Given the description of an element on the screen output the (x, y) to click on. 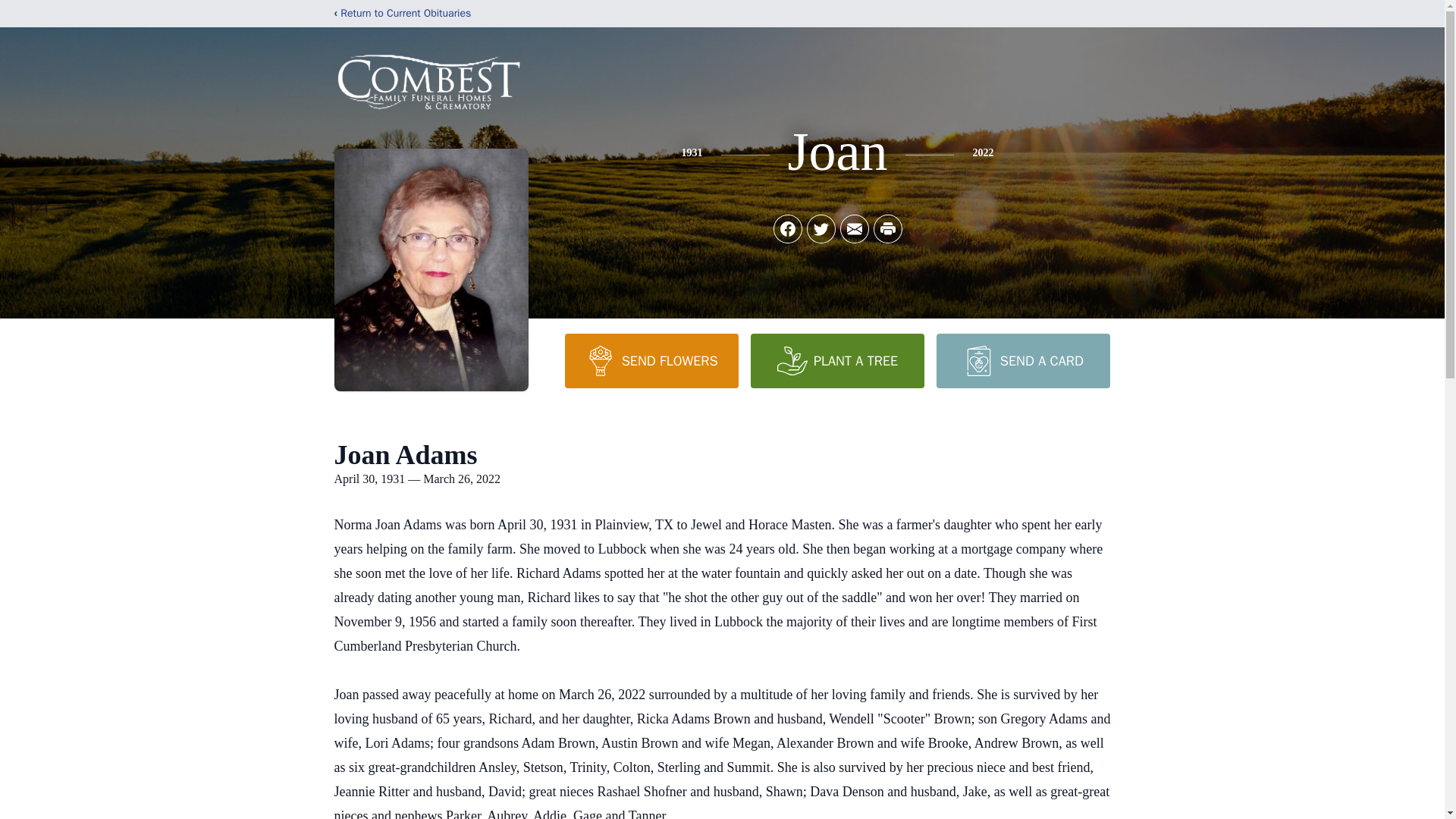
SEND FLOWERS (651, 360)
PLANT A TREE (837, 360)
SEND A CARD (1022, 360)
